Given the description of an element on the screen output the (x, y) to click on. 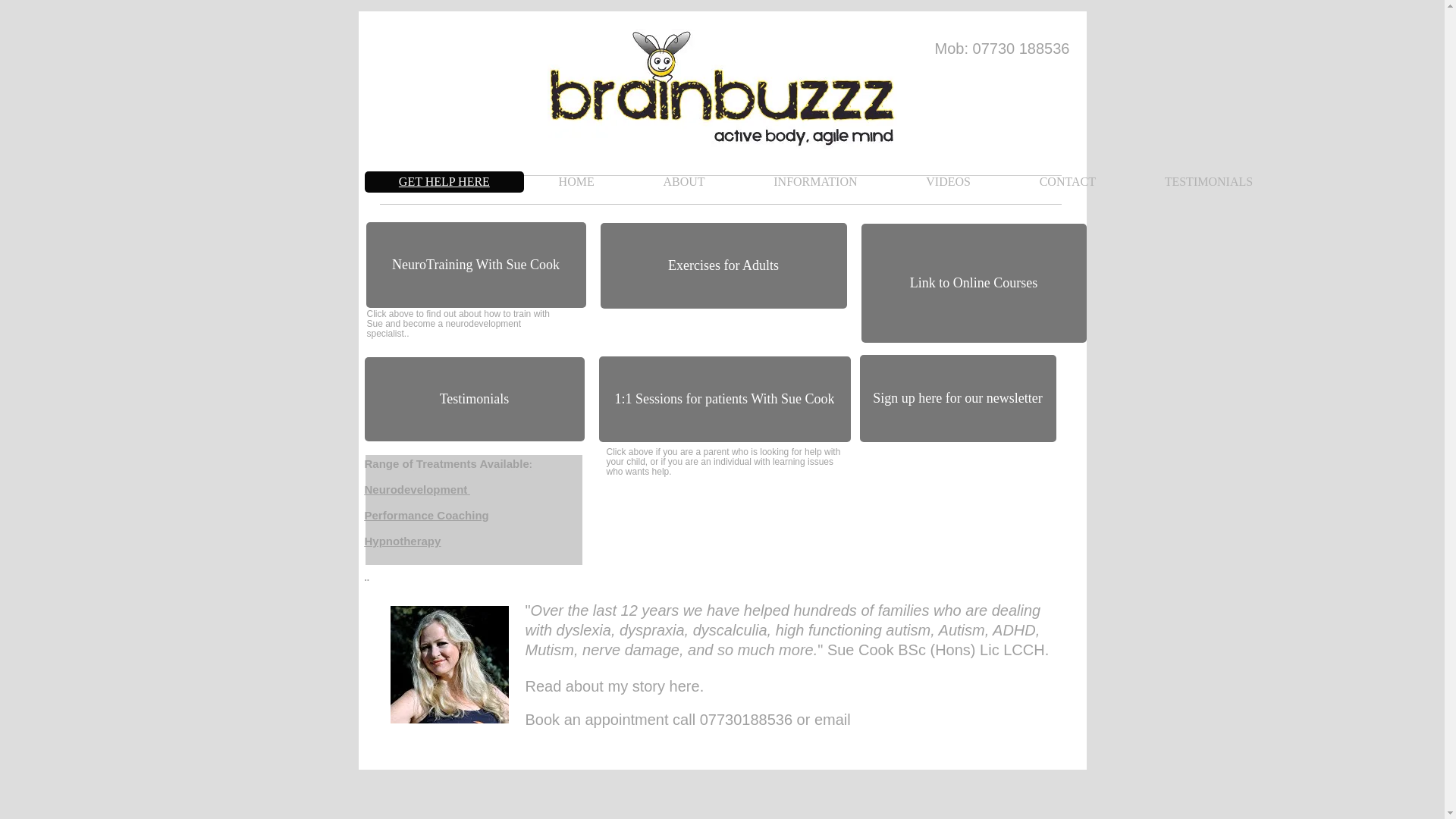
VIDEOS (947, 181)
.. (366, 577)
INFORMATION (815, 181)
HOME (576, 181)
Neurodevelopment (415, 489)
CONTACT (1066, 181)
Link to Online Courses (973, 283)
Exercises for Adults (723, 265)
1:1 Sessions for patients With Sue Cook (724, 399)
NeuroTraining With Sue Cook (475, 264)
TESTIMONIALS (1208, 181)
Performance Coaching (425, 514)
ABOUT (683, 181)
Testimonials (473, 399)
